Given the description of an element on the screen output the (x, y) to click on. 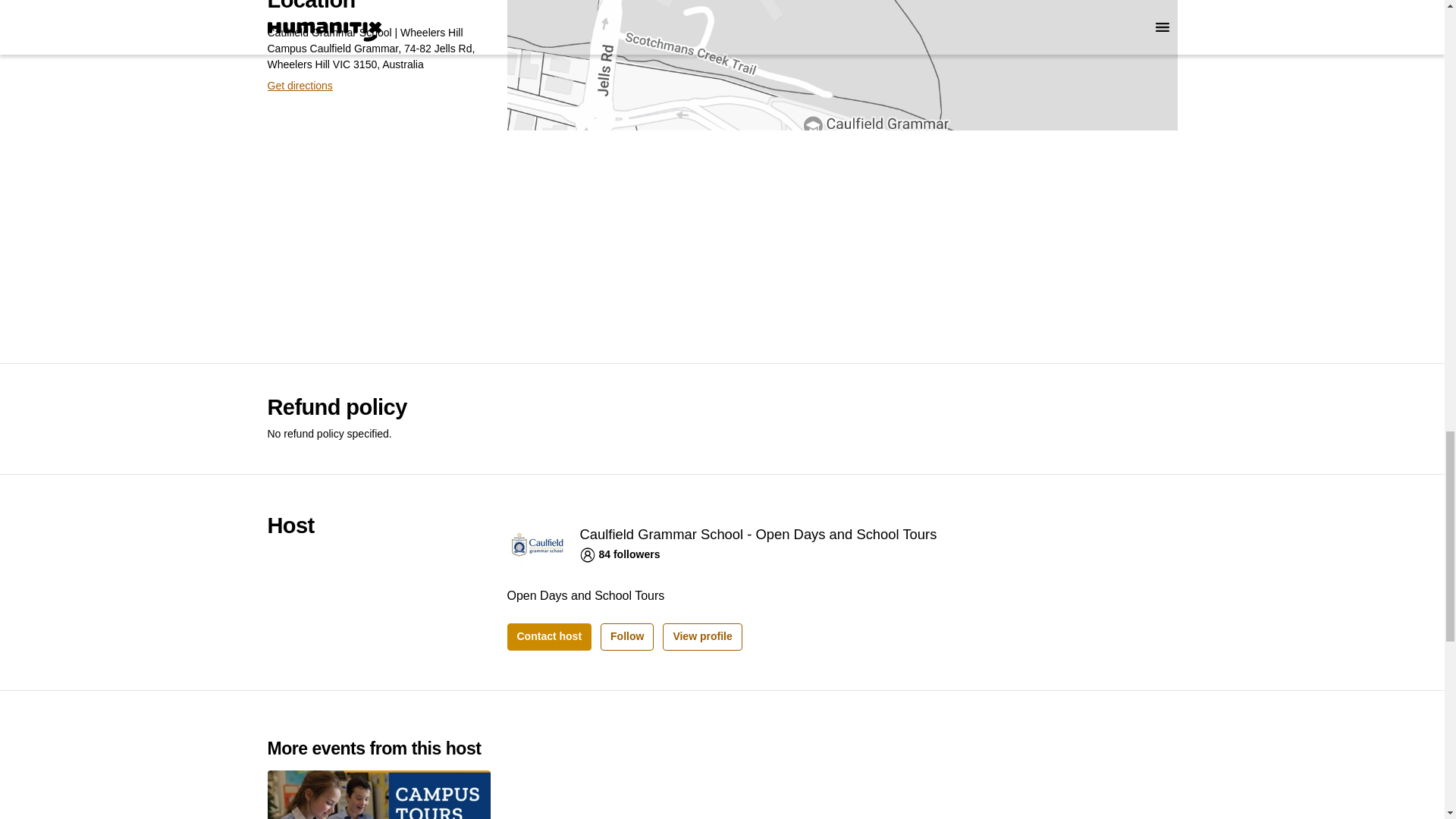
Get directions (298, 85)
Follow (626, 636)
Contact host (548, 636)
View profile (701, 636)
